Given the description of an element on the screen output the (x, y) to click on. 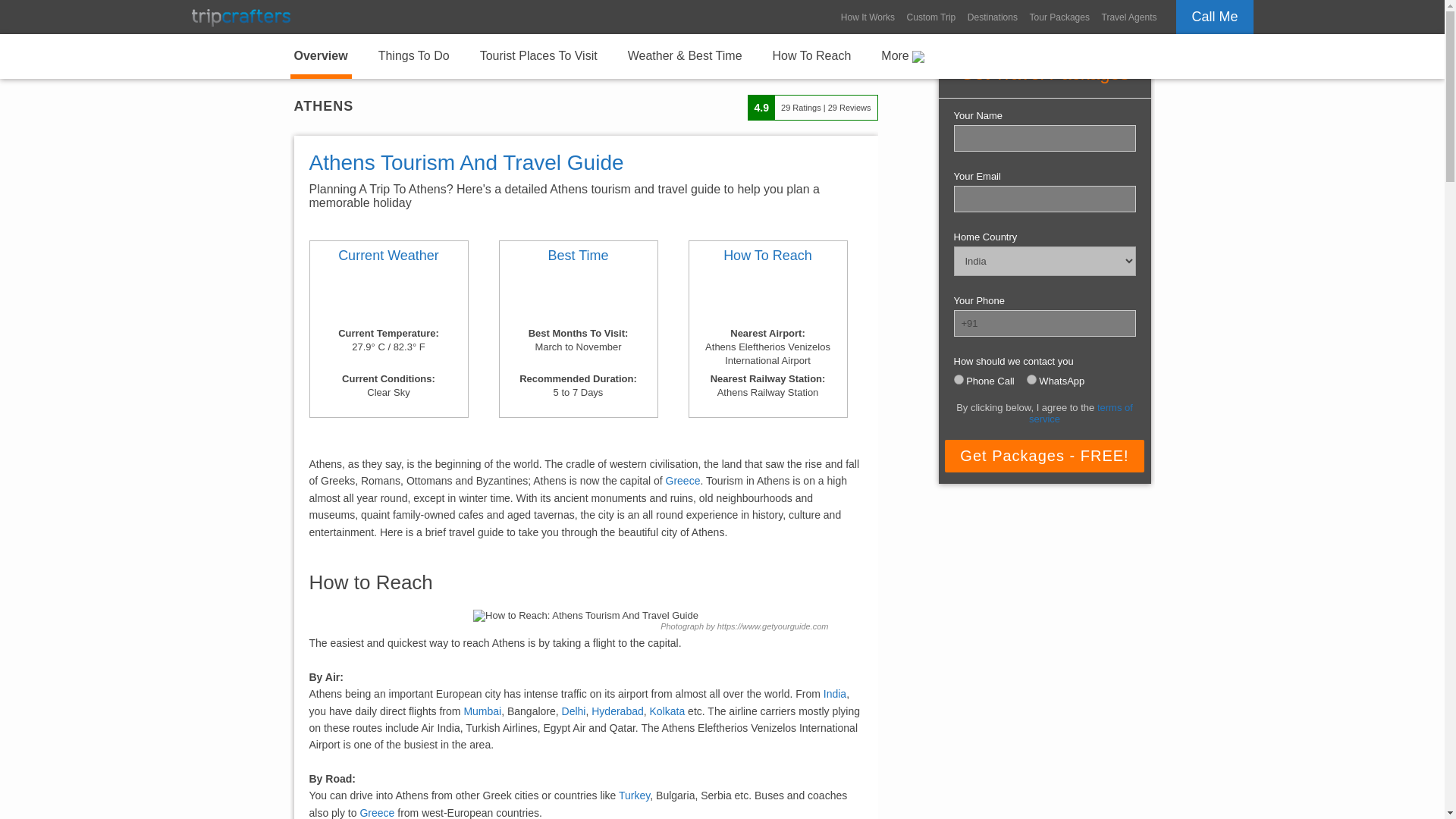
How To Reach Athens (812, 54)
Get Packages - FREE! (1043, 455)
How It Works (867, 17)
WhatsApp (1031, 379)
Current Weather (389, 255)
Athens Weather And Best Time To Visit Athens (389, 255)
How It Works (867, 17)
Mumbai (481, 711)
More (902, 54)
Phone (958, 379)
